Given the description of an element on the screen output the (x, y) to click on. 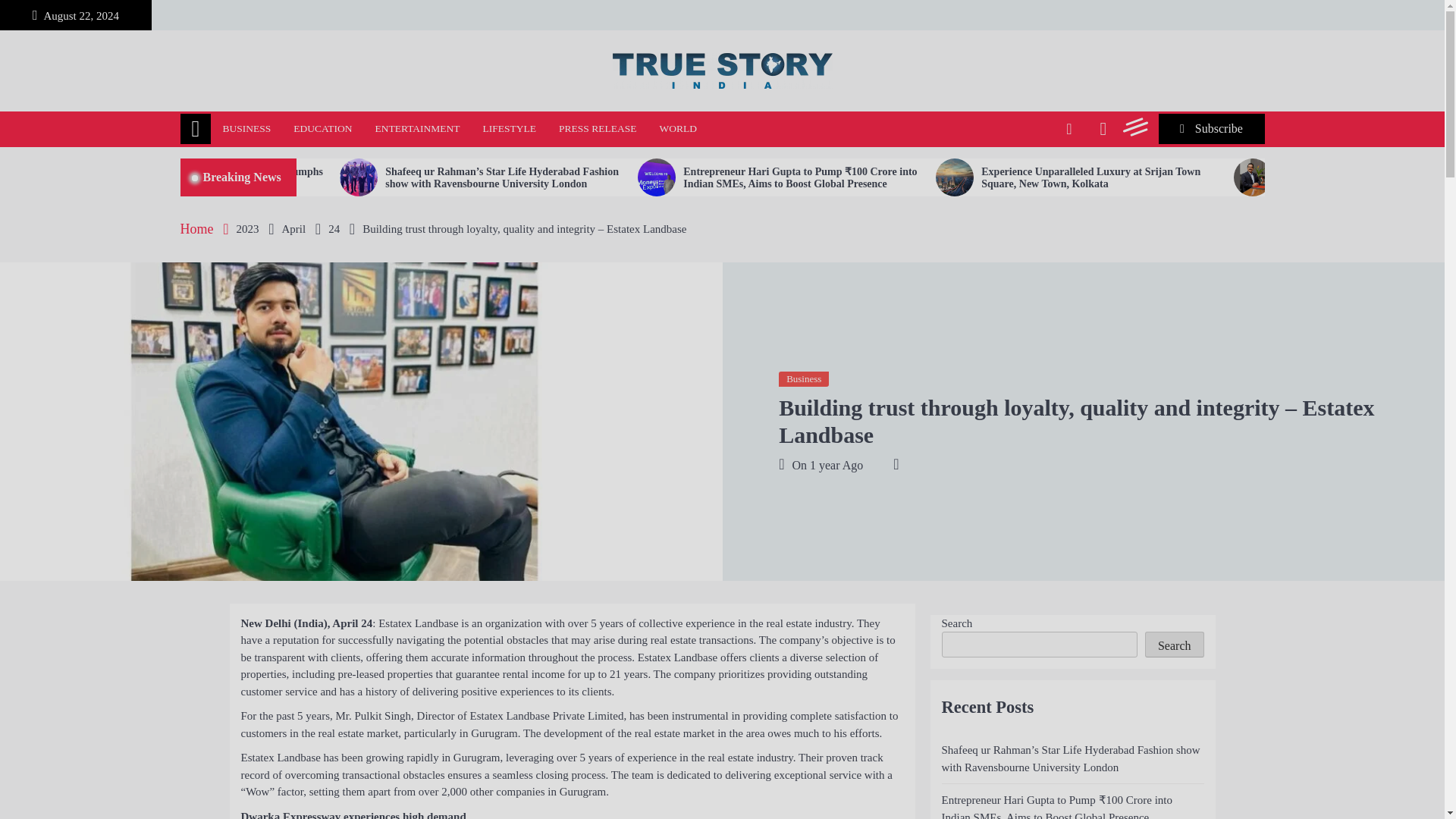
PRESS RELEASE (597, 128)
BUSINESS (246, 128)
True Story India (274, 111)
Home (195, 128)
EDUCATION (322, 128)
WORLD (677, 128)
ENTERTAINMENT (417, 128)
LIFESTYLE (509, 128)
Subscribe (1211, 128)
